Given the description of an element on the screen output the (x, y) to click on. 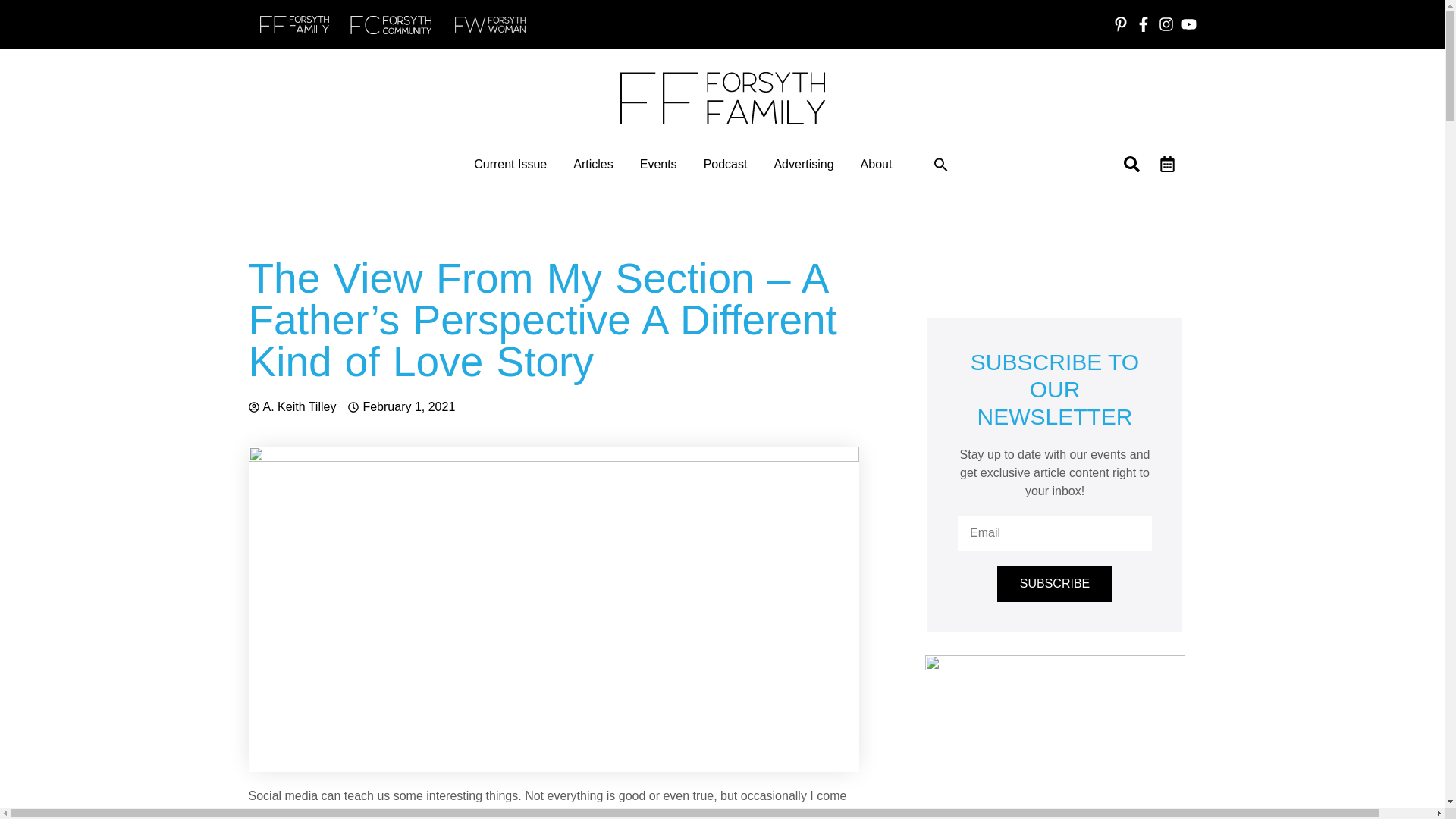
Podcast (725, 164)
Advertising (802, 164)
Events (658, 164)
Current Issue (510, 164)
Articles (592, 164)
About (876, 164)
